Given the description of an element on the screen output the (x, y) to click on. 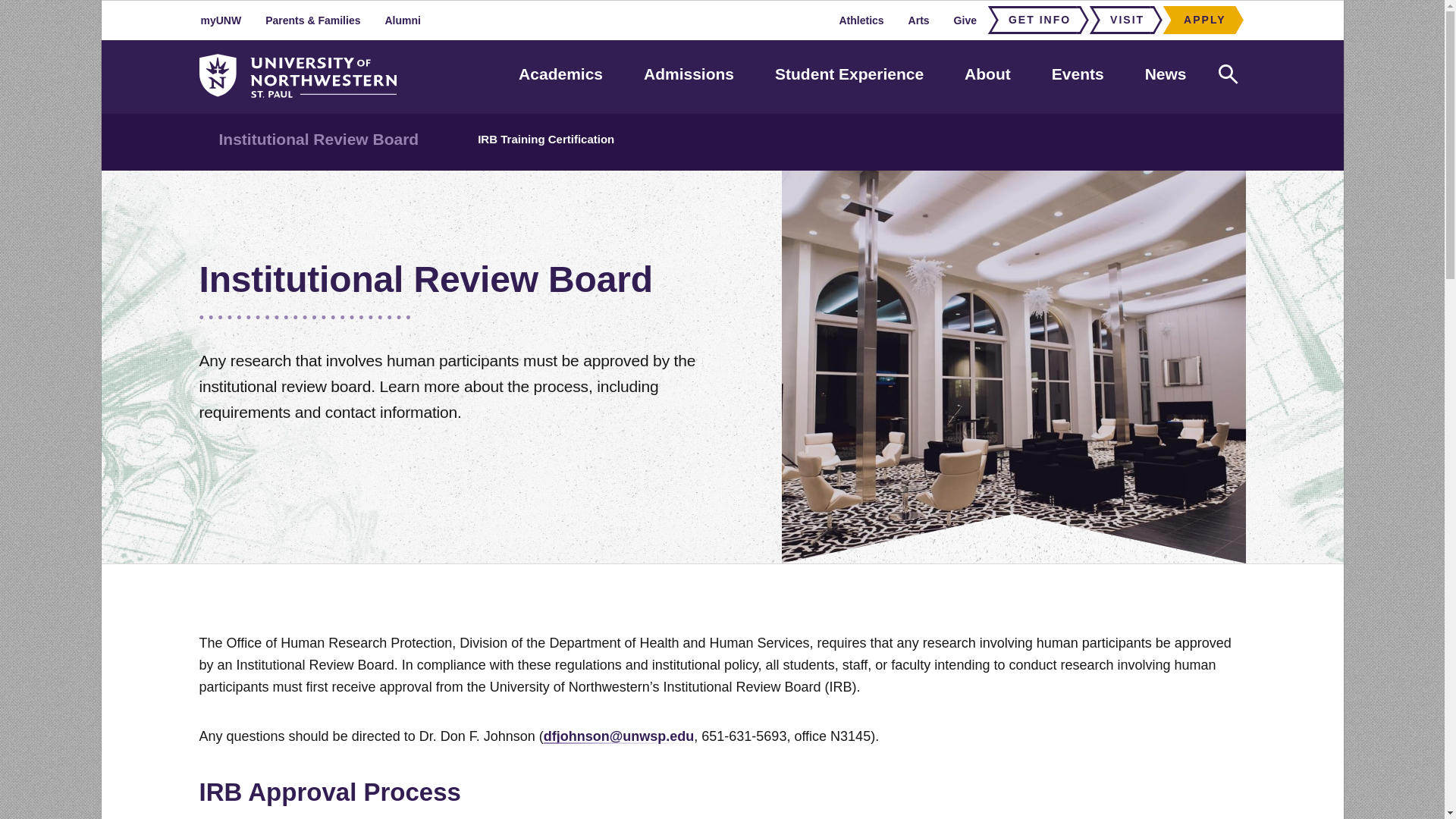
Arts (919, 20)
Academics (560, 73)
GET INFO (1034, 20)
Give (964, 20)
Athletics (860, 20)
APPLY (1199, 20)
Logo Header (297, 75)
Alumni (402, 20)
Admissions (688, 73)
myUNW (220, 20)
